Given the description of an element on the screen output the (x, y) to click on. 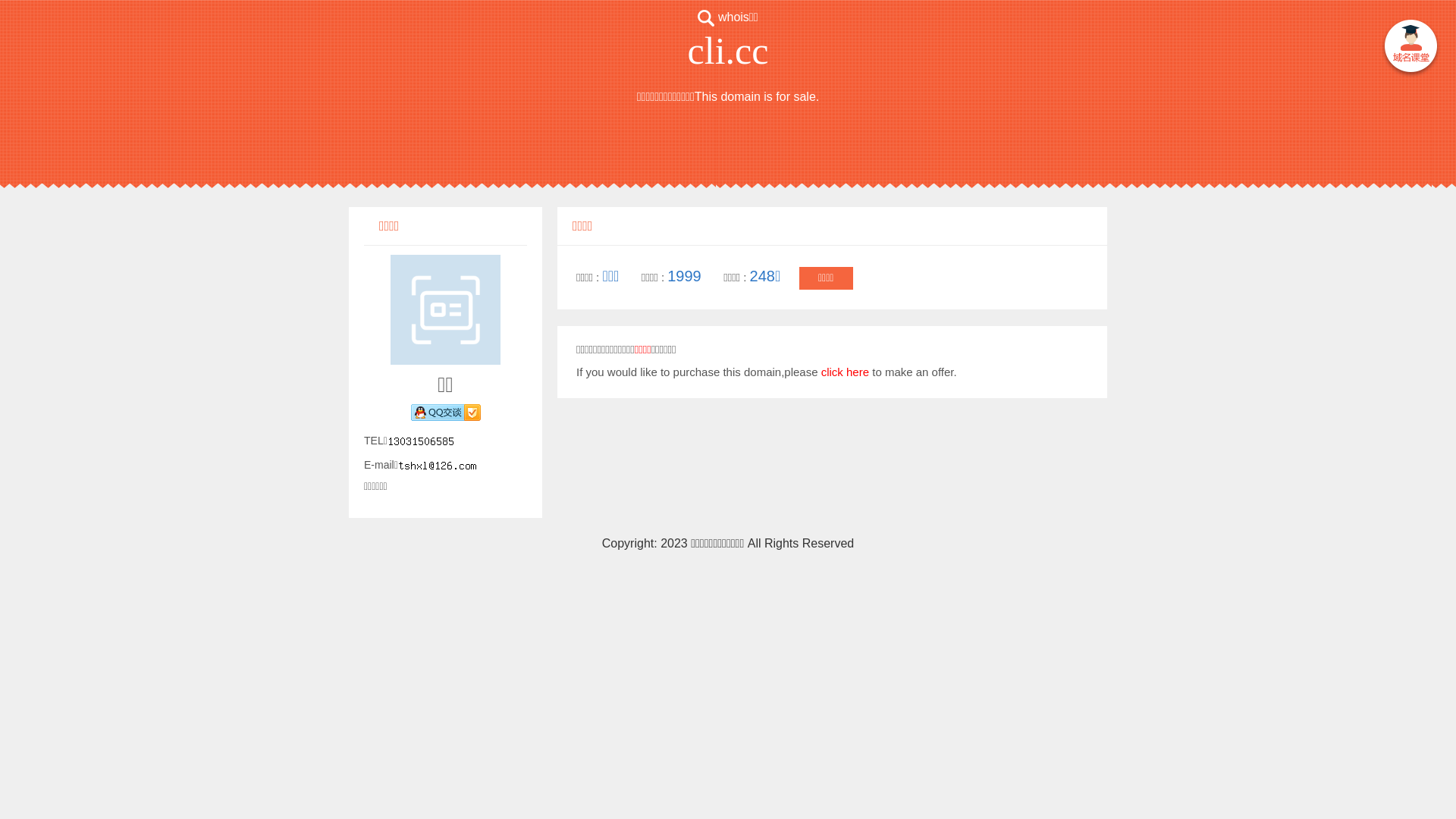
click here Element type: text (845, 371)
  Element type: text (1410, 48)
